Given the description of an element on the screen output the (x, y) to click on. 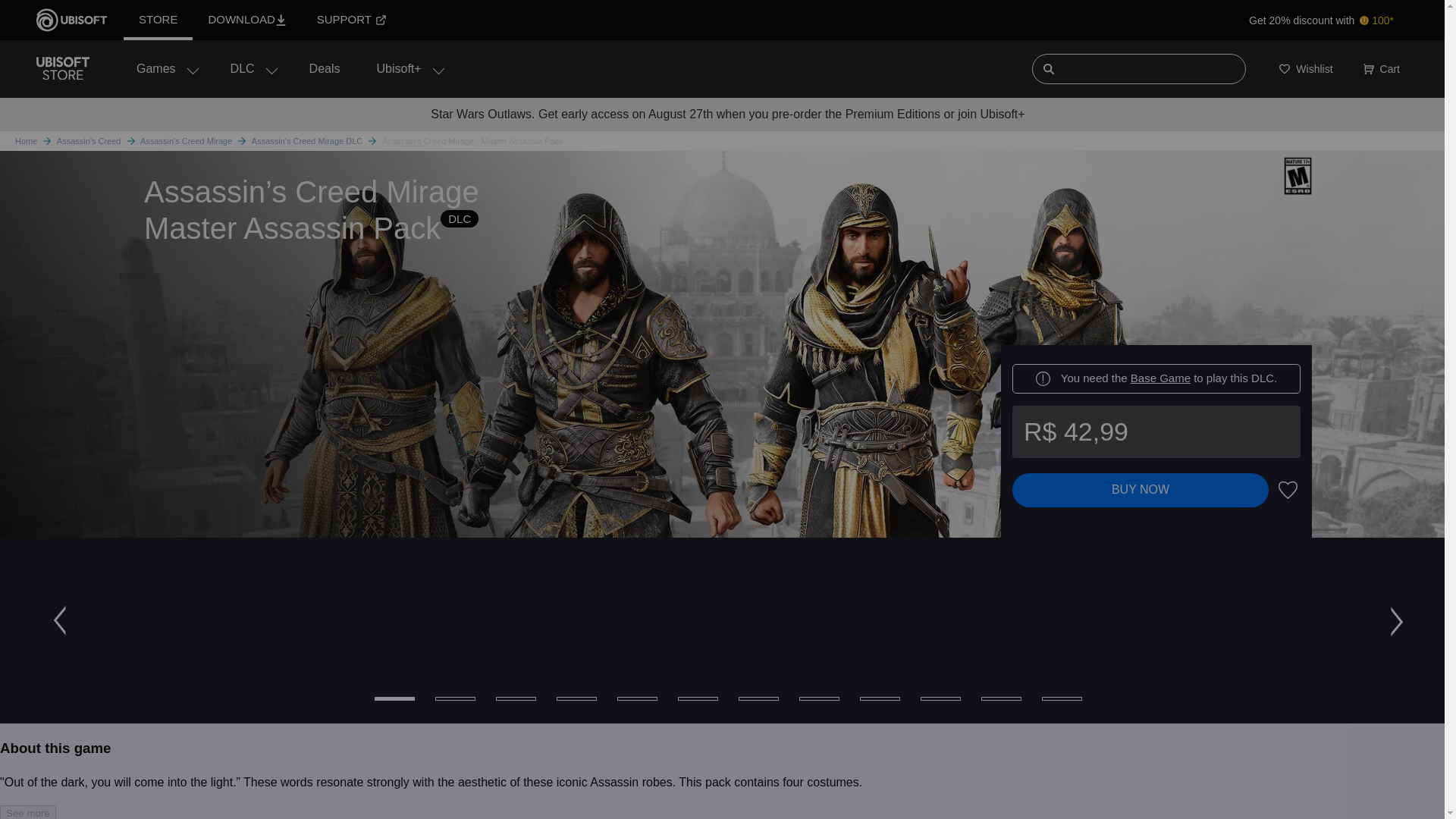
DOWNLOAD (246, 20)
Go to homepage (35, 140)
SUPPORT (351, 20)
Go to Assassin's Creed (97, 140)
Go to Assassin's Creed Mirage DLC (316, 140)
Go to Assassin's Creed Mirage (195, 140)
Games (164, 68)
STORE (157, 20)
